Given the description of an element on the screen output the (x, y) to click on. 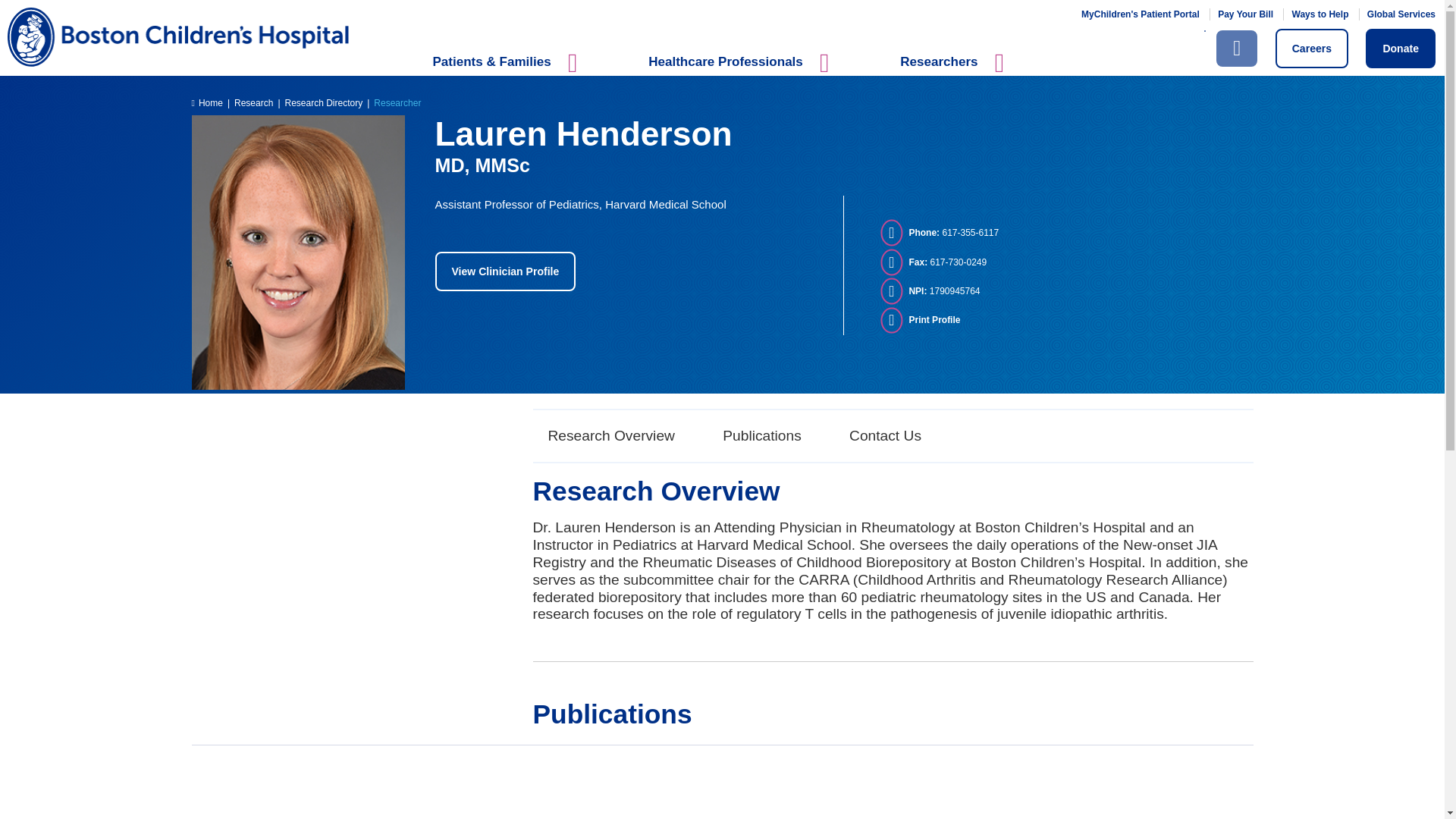
Research Directory (323, 102)
Research Overview (610, 435)
Publications (761, 435)
Home (206, 102)
Contact Us (884, 435)
Home (680, 36)
Expand menu Healthcare Professionals (742, 70)
Research (253, 102)
Expand menu Researchers (955, 70)
